Given the description of an element on the screen output the (x, y) to click on. 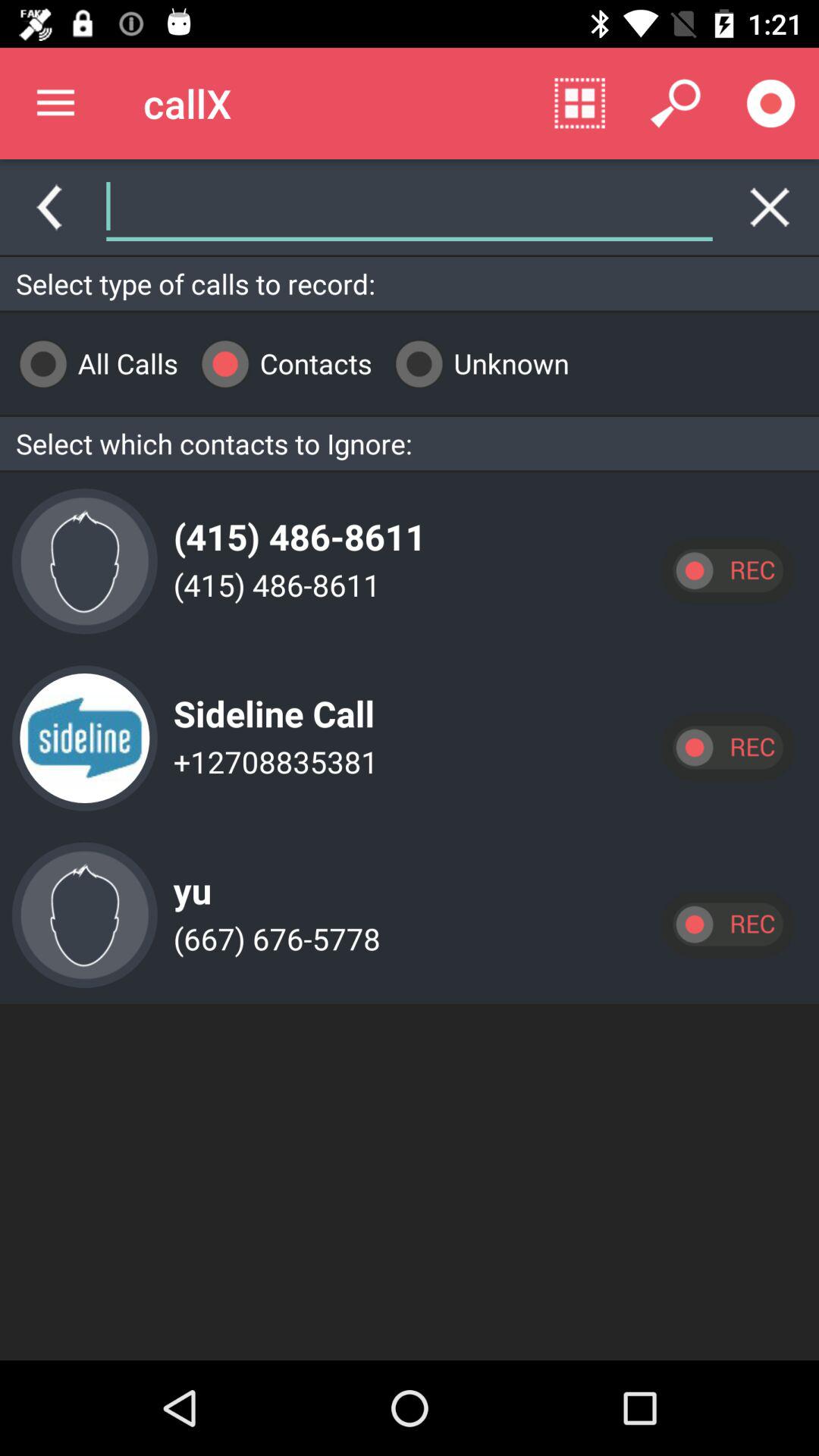
record call for 415 486-8611 (727, 570)
